Given the description of an element on the screen output the (x, y) to click on. 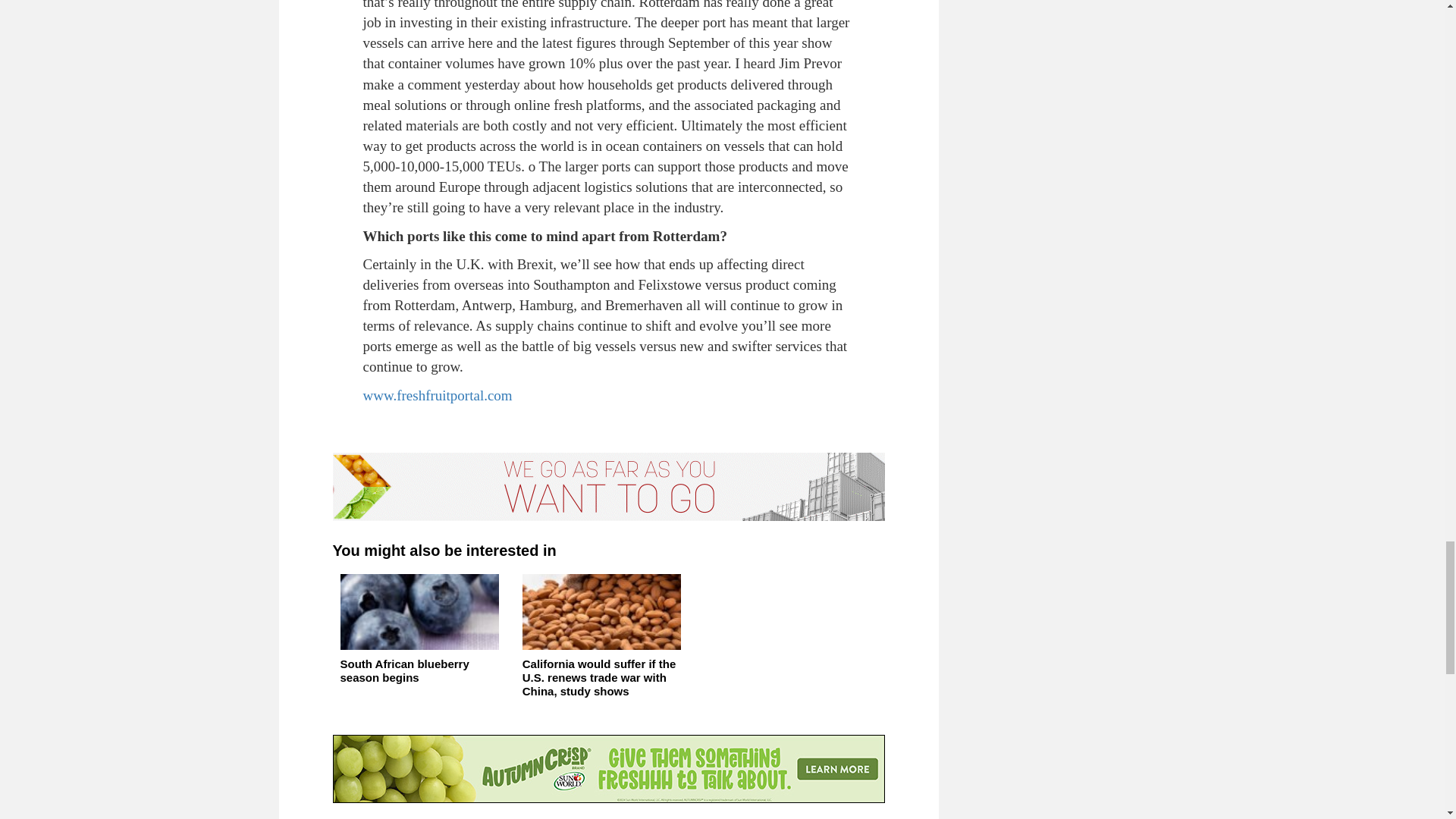
Permanent Link to South African blueberry season begins (422, 642)
